Given the description of an element on the screen output the (x, y) to click on. 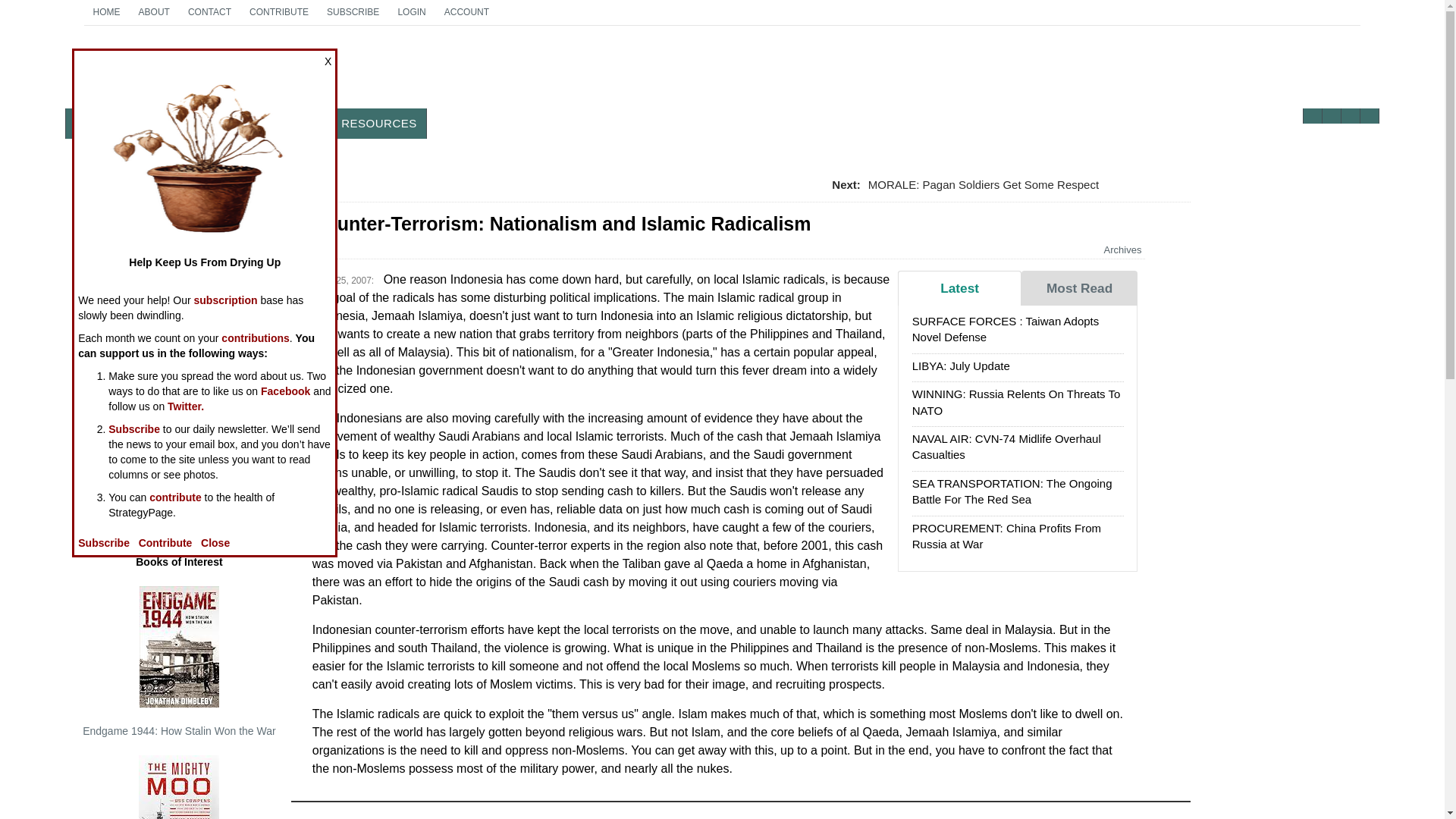
ACCOUNT (466, 12)
SUBSCRIBE (352, 12)
HOME (106, 12)
CONTACT (209, 12)
OTHER (300, 123)
PHOTOS (236, 123)
FEATURES (161, 123)
NEWS (92, 123)
CONTRIBUTE (278, 12)
RESOURCES (378, 123)
ABOUT (154, 12)
LOGIN (181, 72)
